Given the description of an element on the screen output the (x, y) to click on. 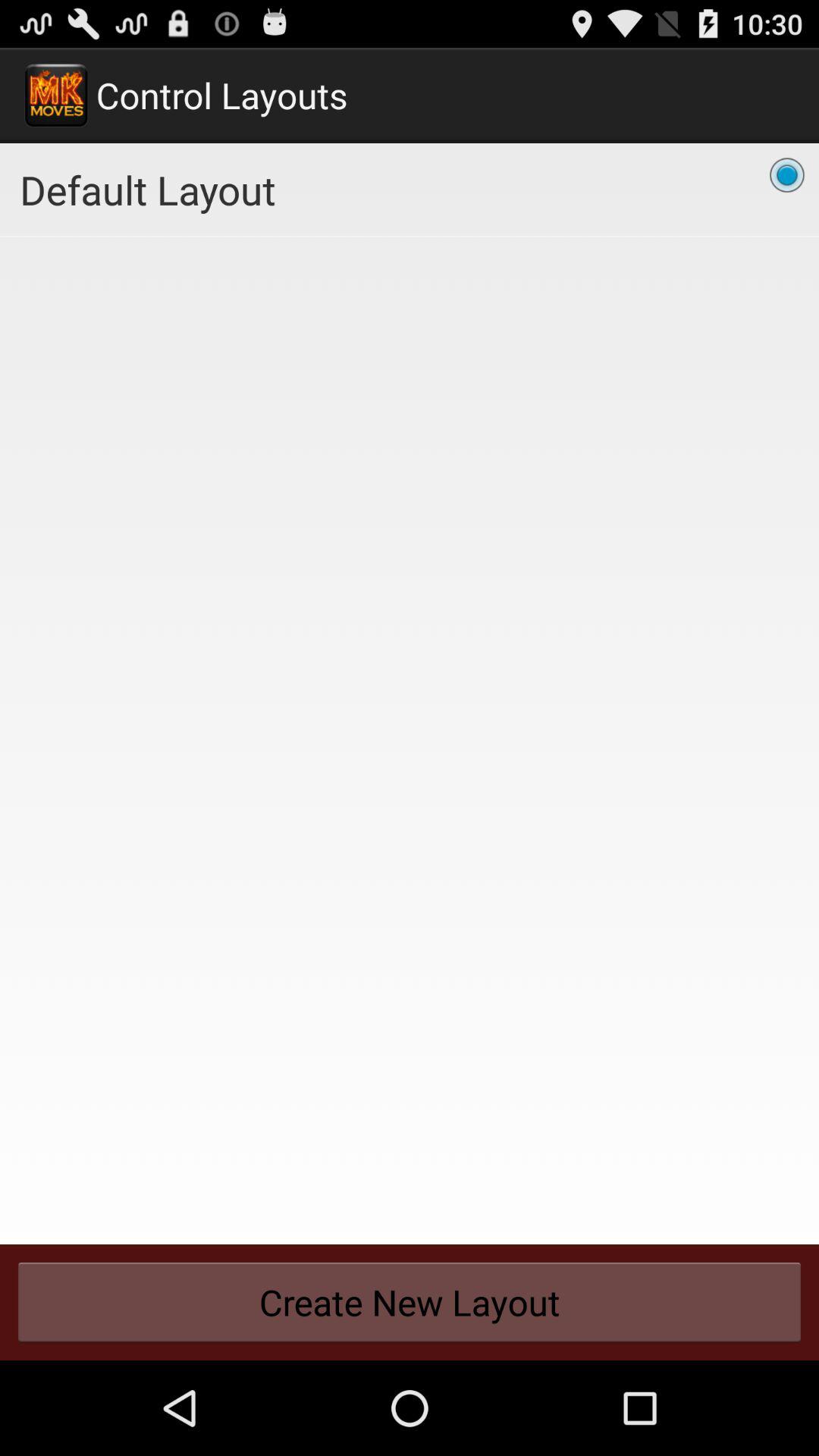
launch the create new layout button (409, 1302)
